Given the description of an element on the screen output the (x, y) to click on. 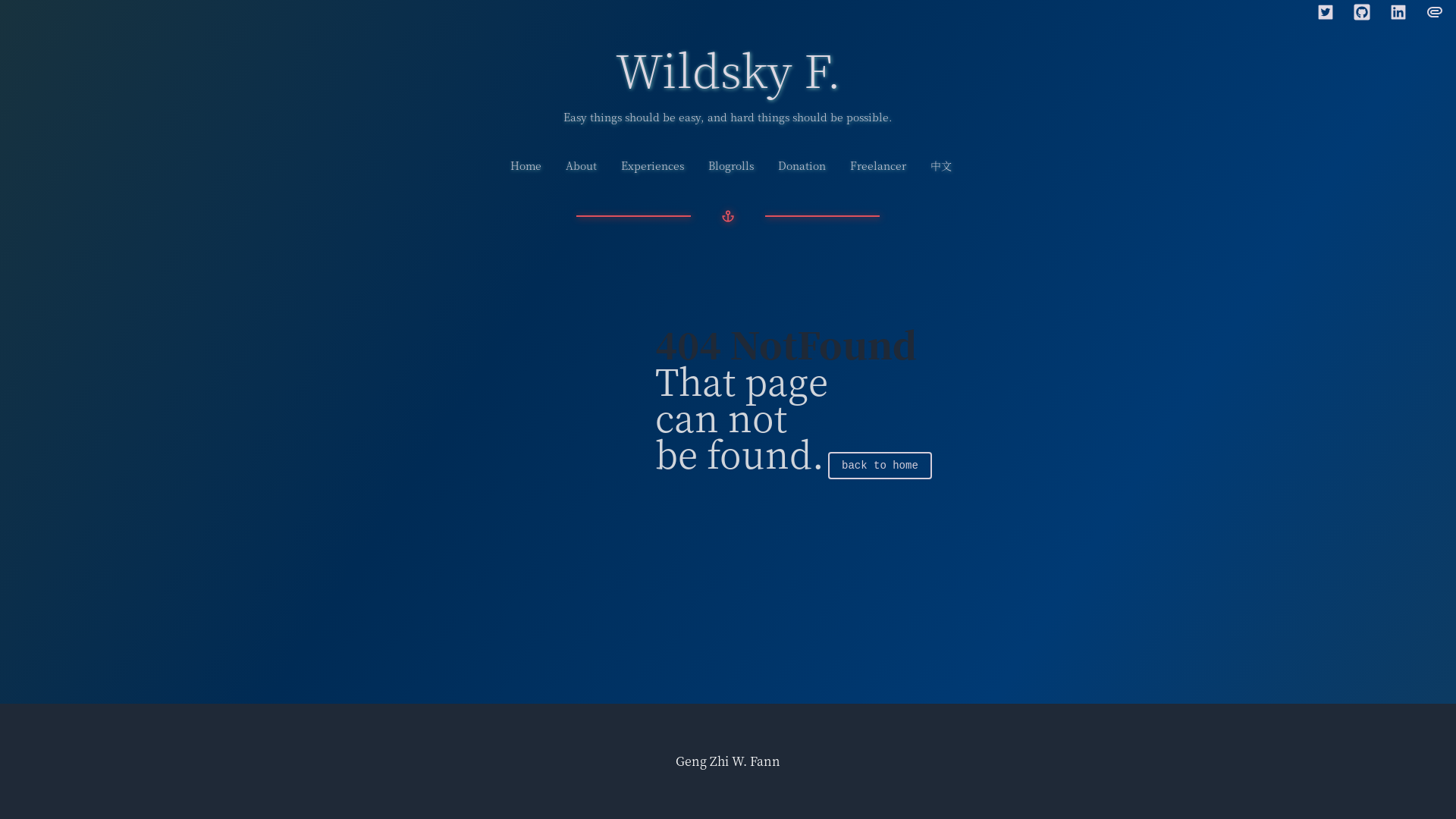
Freelancer Element type: text (877, 165)
Donation Element type: text (801, 165)
Blogrolls Element type: text (730, 165)
Experiences Element type: text (652, 165)
Wildsky F. Element type: text (727, 67)
Home Element type: text (525, 165)
back to home Element type: text (879, 465)
About Element type: text (580, 165)
